Given the description of an element on the screen output the (x, y) to click on. 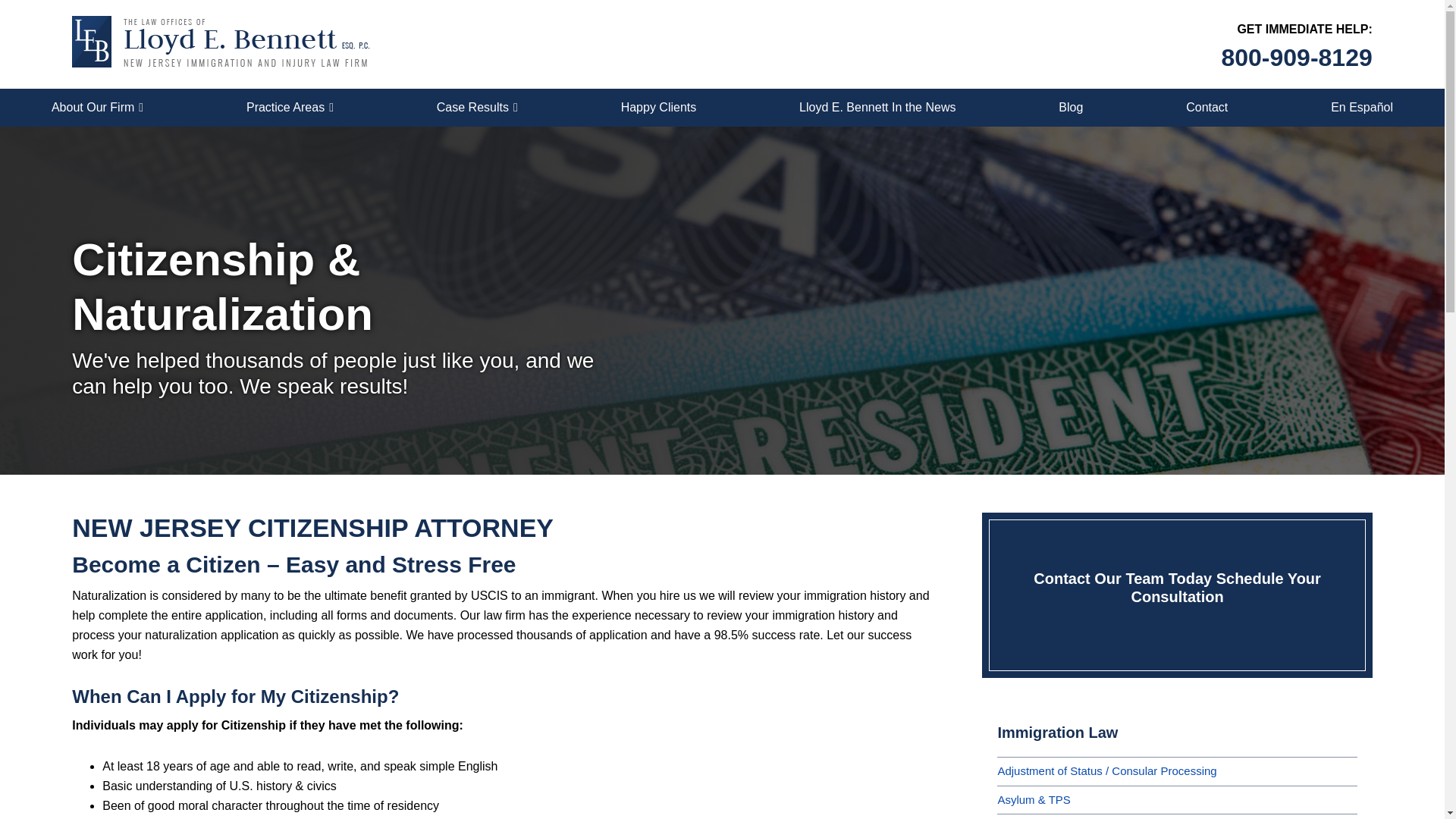
Contact (1206, 107)
Case Results (477, 107)
Happy Clients (658, 107)
Practice Areas (290, 107)
Blog (1070, 107)
About Our Firm (97, 107)
Lloyd E. Bennett In the News (877, 107)
800-909-8129 (1296, 57)
